Given the description of an element on the screen output the (x, y) to click on. 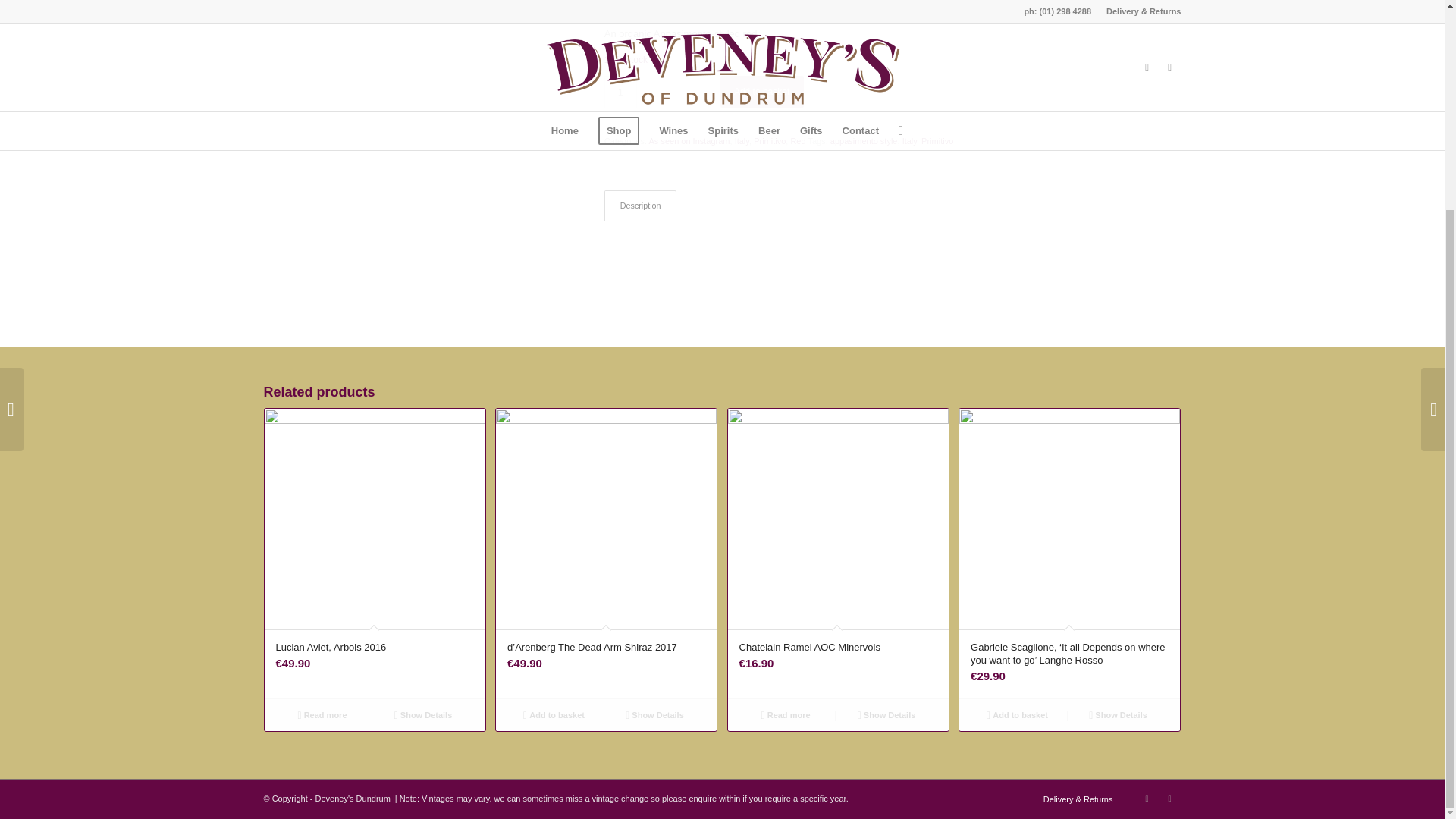
1 (620, 92)
Twitter (1169, 798)
Instagram (1146, 798)
